Given the description of an element on the screen output the (x, y) to click on. 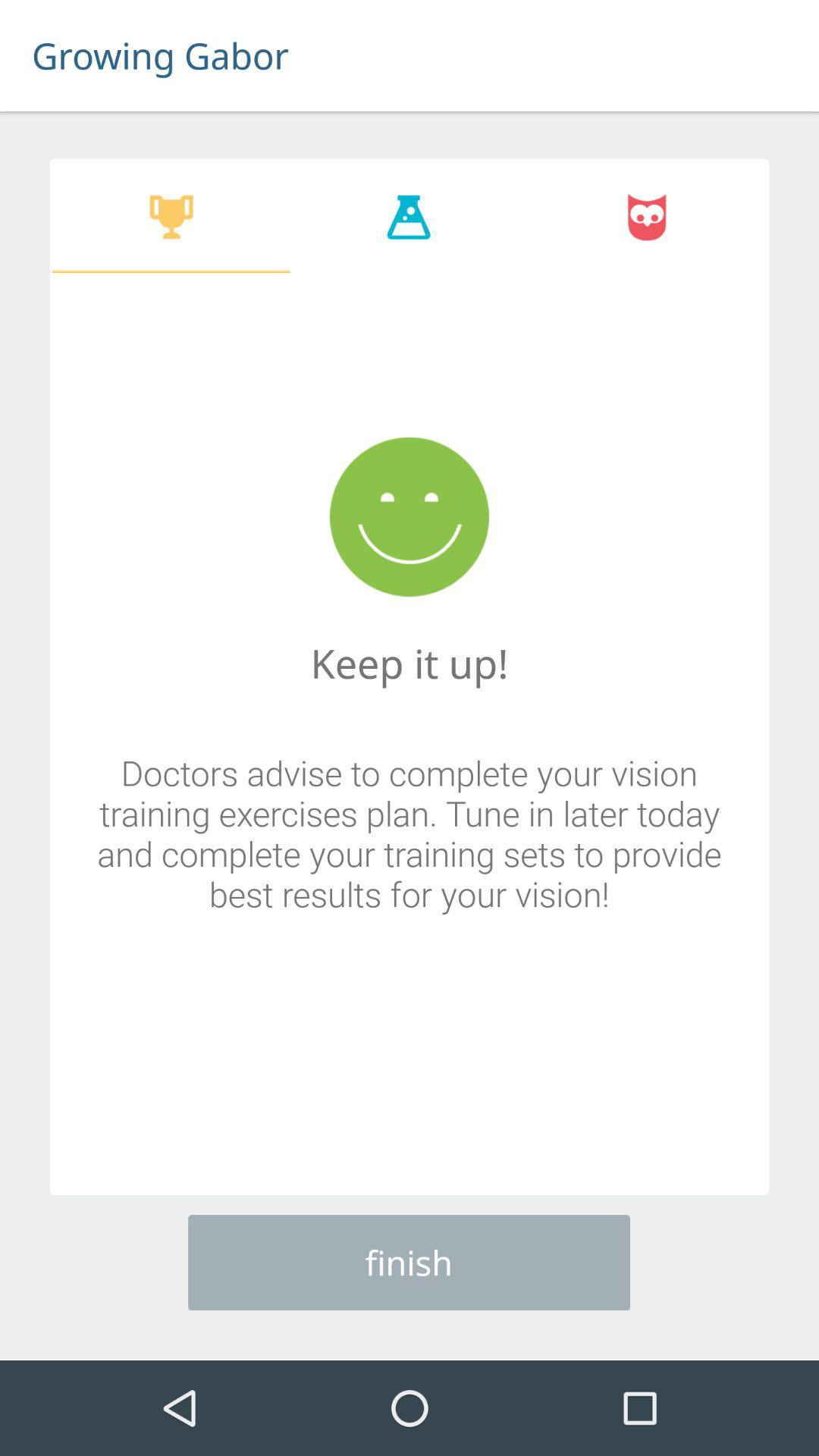
scroll until the finish button (409, 1262)
